Given the description of an element on the screen output the (x, y) to click on. 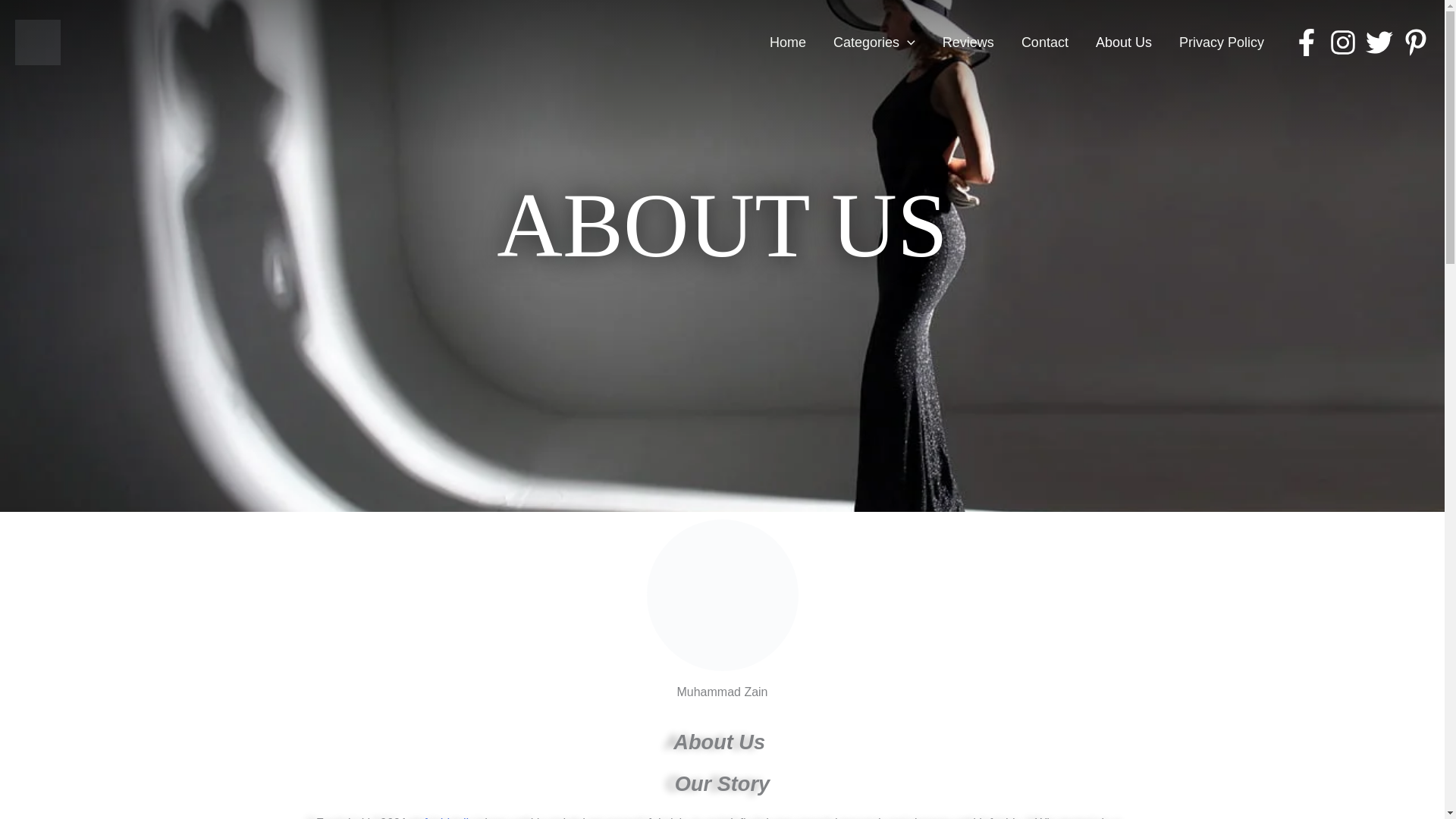
Contact (1044, 41)
Reviews (967, 41)
Categories (873, 41)
Privacy Policy (1222, 41)
Home (787, 41)
About Us (1123, 41)
